Given the description of an element on the screen output the (x, y) to click on. 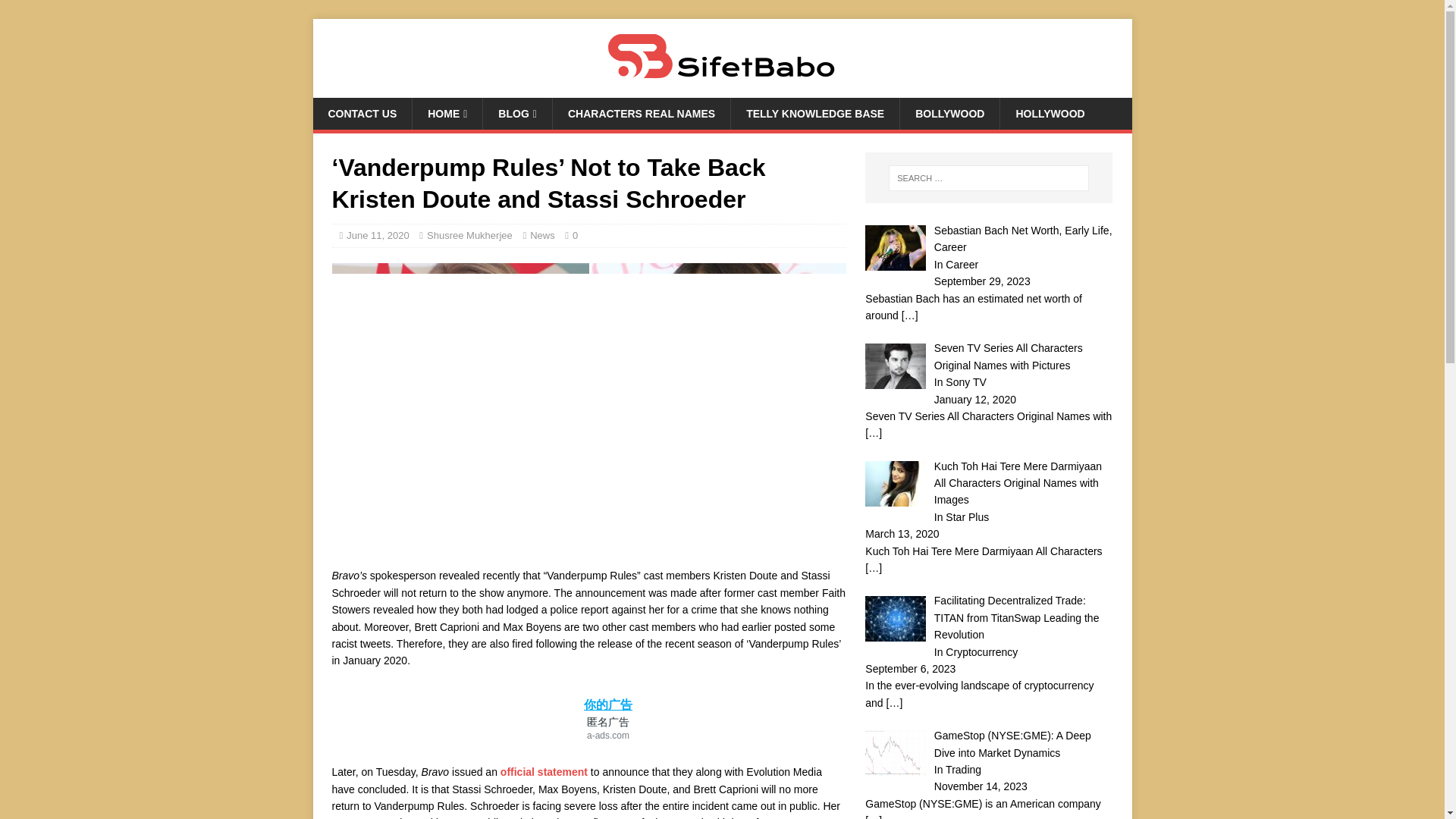
June 11, 2020 (377, 235)
CHARACTERS REAL NAMES (640, 113)
Sebastian Bach Net Worth, Early Life, Career (1023, 238)
Shusree Mukherjee (469, 235)
News (541, 235)
Seven TV Series All Characters Original Names with Pictures (1008, 356)
BLOG (516, 113)
BOLLYWOOD (948, 113)
